Given the description of an element on the screen output the (x, y) to click on. 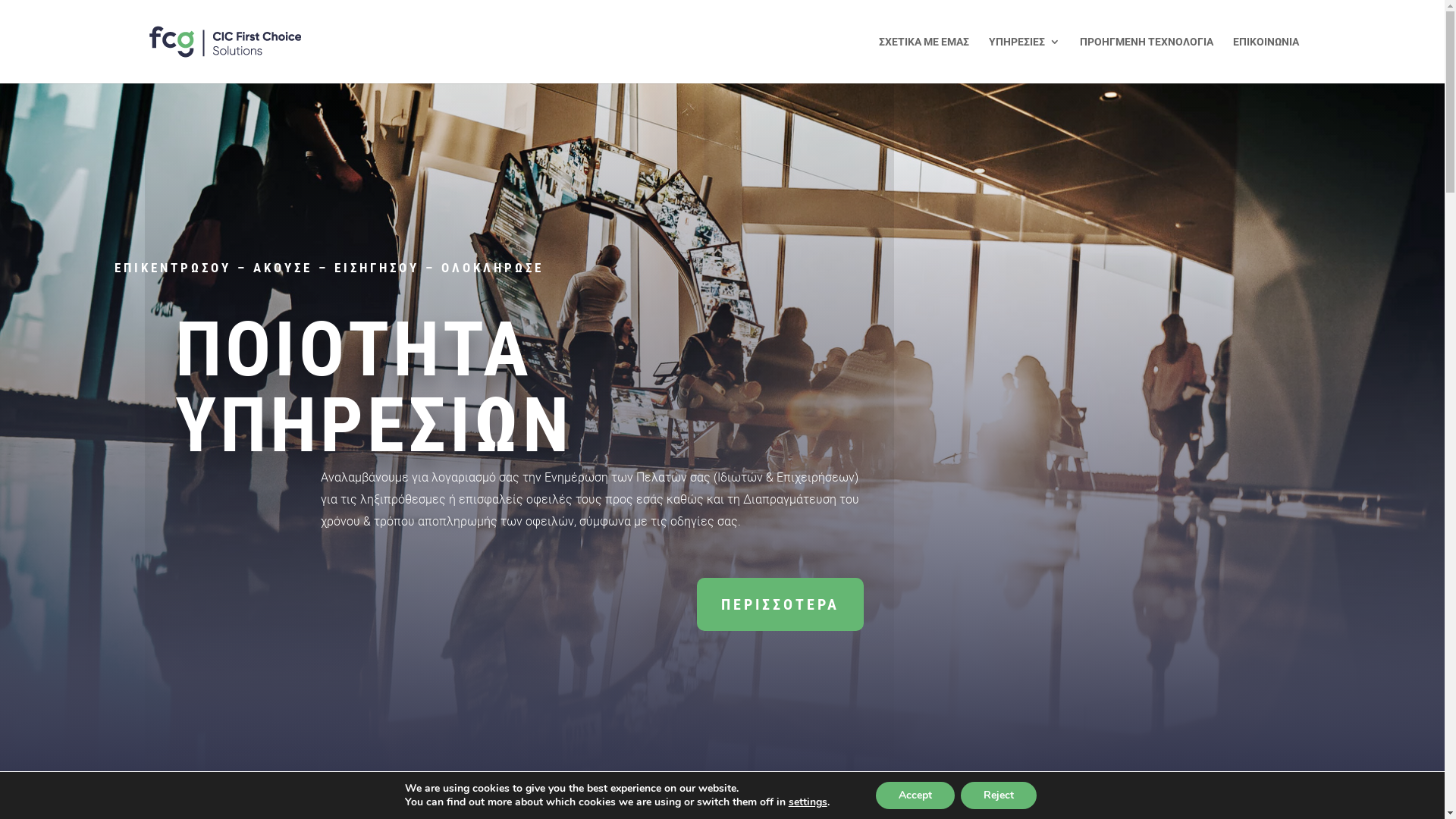
Accept Element type: text (914, 795)
Reject Element type: text (998, 795)
